Given the description of an element on the screen output the (x, y) to click on. 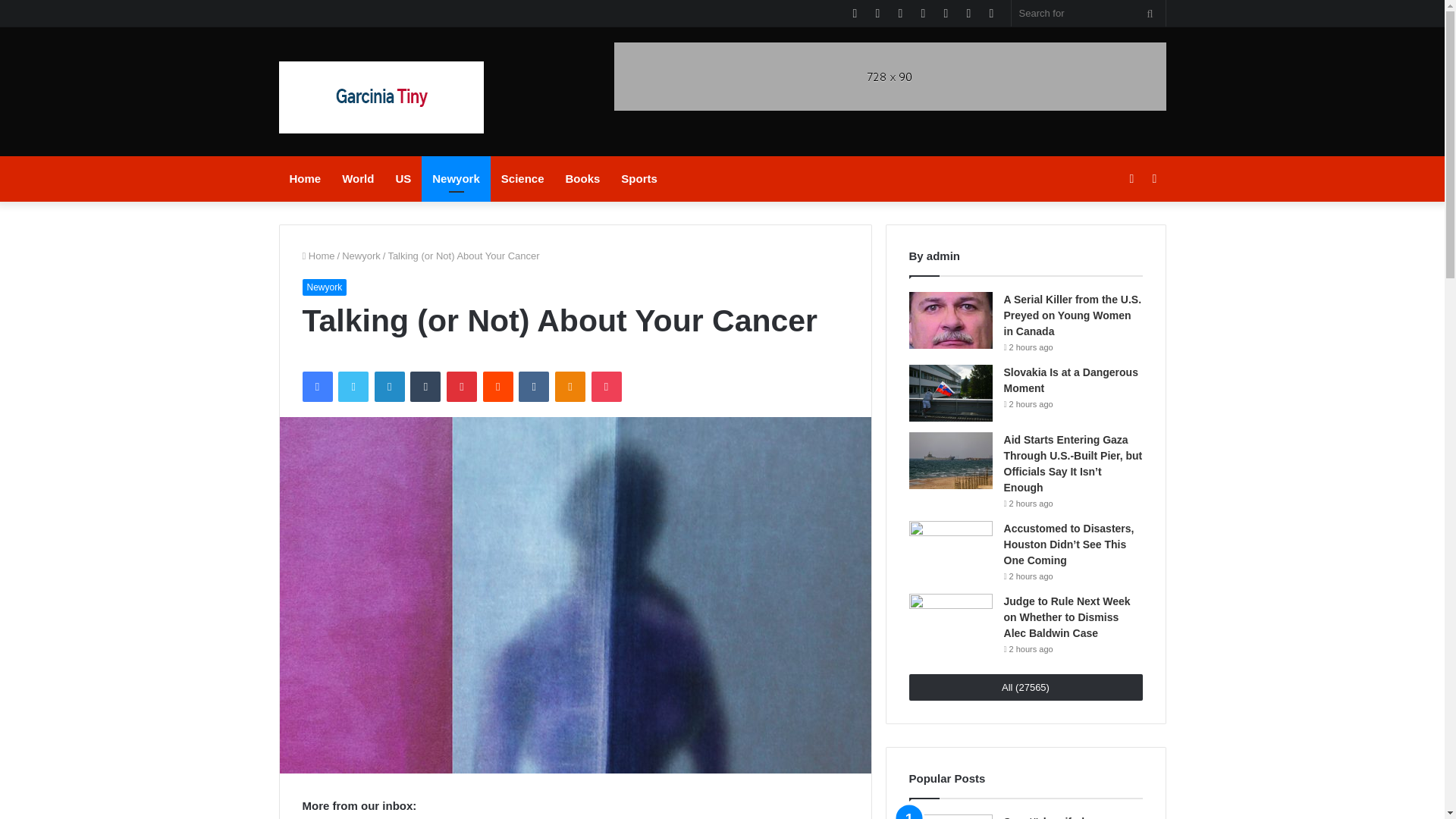
Twitter (352, 386)
Pocket (606, 386)
Books (582, 178)
Tumblr (425, 386)
Pinterest (461, 386)
Pocket (606, 386)
Search for (1088, 13)
Tumblr (425, 386)
VKontakte (533, 386)
Science (522, 178)
